Given the description of an element on the screen output the (x, y) to click on. 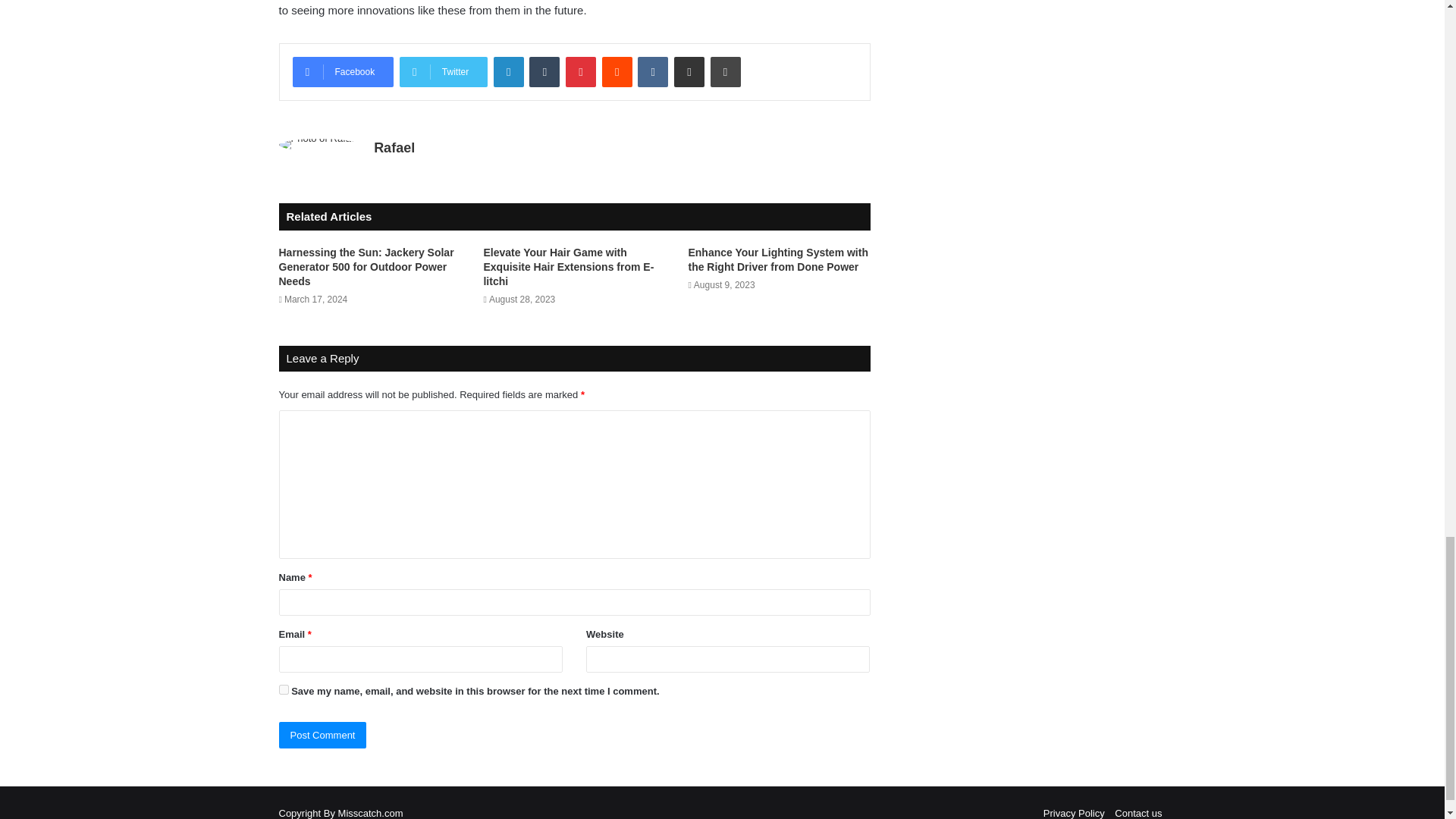
Reddit (616, 71)
Post Comment (322, 734)
Print (725, 71)
VKontakte (652, 71)
Reddit (616, 71)
Facebook (343, 71)
Tumblr (544, 71)
Share via Email (689, 71)
Pinterest (580, 71)
Twitter (442, 71)
LinkedIn (508, 71)
Pinterest (580, 71)
Print (725, 71)
